Given the description of an element on the screen output the (x, y) to click on. 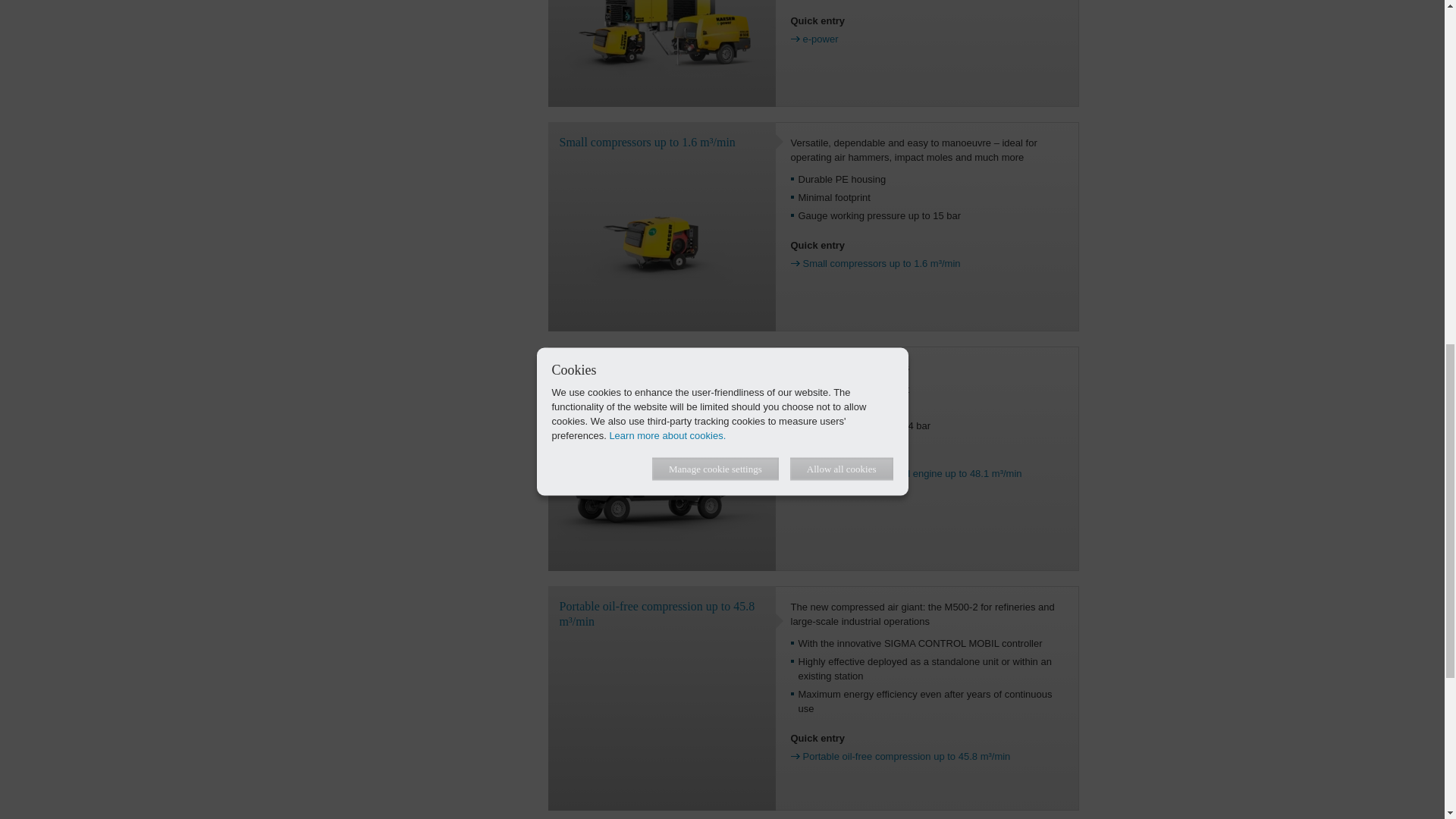
MOBILAIR M235 (660, 476)
MOBILAIR M17 from KAESER KOMPRESSOREN (660, 236)
MOBILAIR e-power from KAESER KOMPRESSOREN (660, 38)
